Given the description of an element on the screen output the (x, y) to click on. 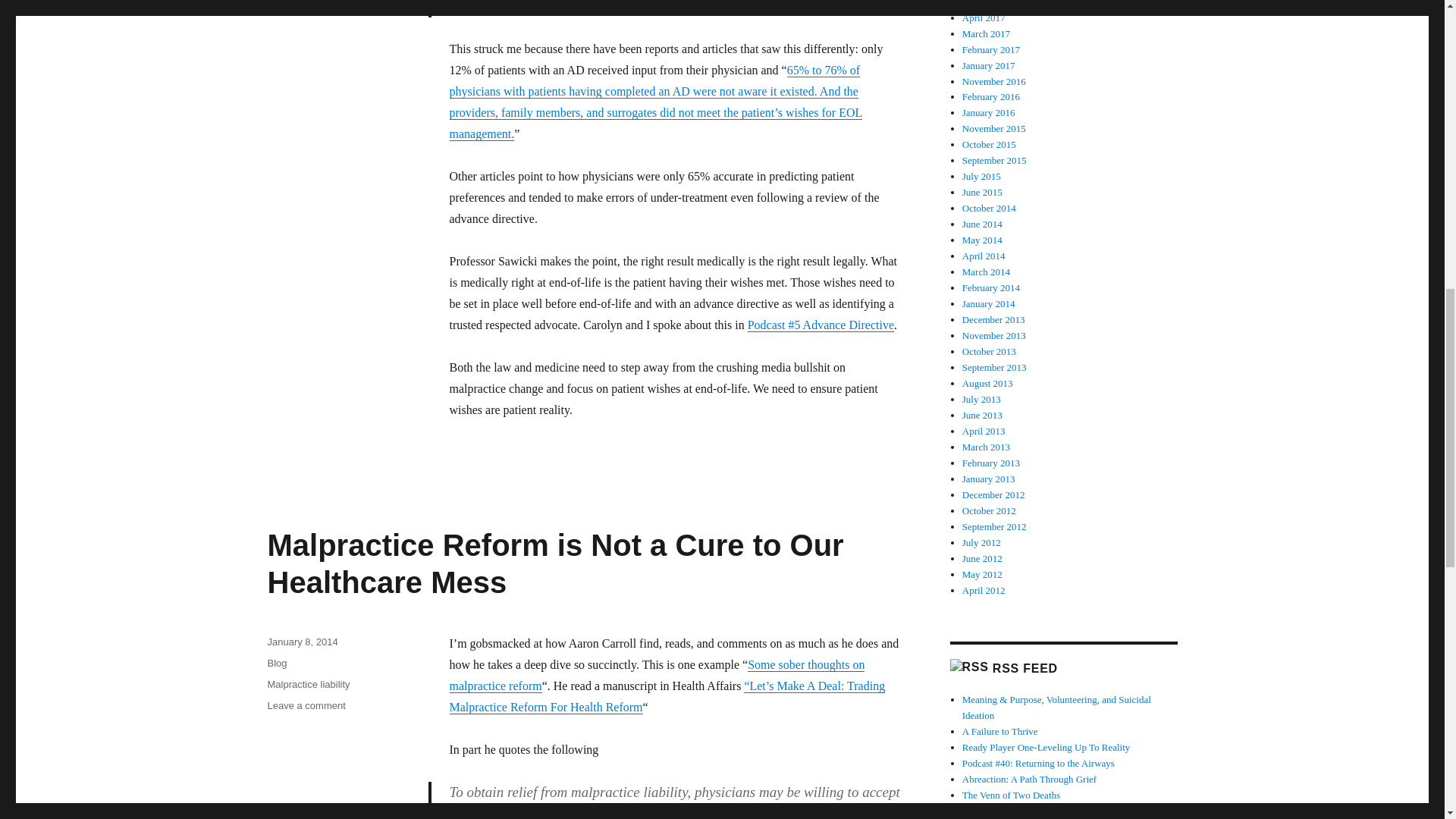
Blog (276, 663)
Malpractice Reform is Not a Cure to Our Healthcare Mess (554, 563)
January 8, 2014 (301, 641)
Malpractice liability (307, 684)
Some sober thoughts on malpractice reform (656, 675)
